Given the description of an element on the screen output the (x, y) to click on. 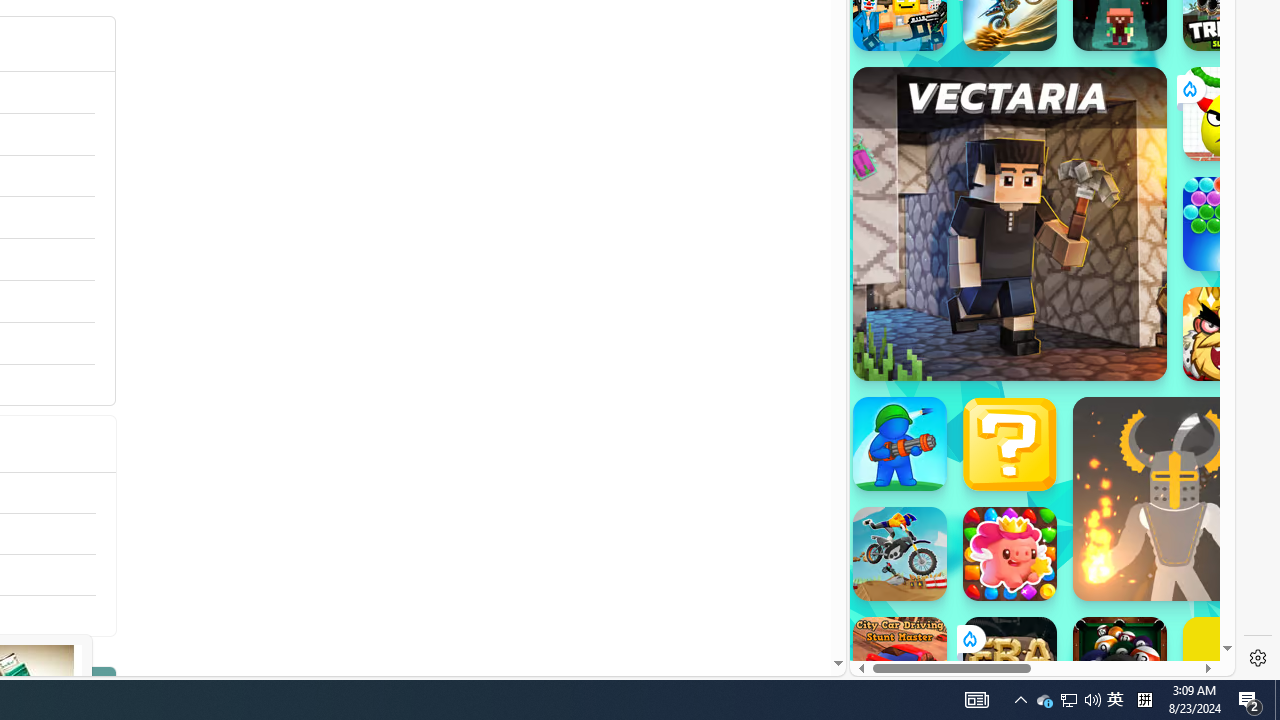
Match Arena (1009, 553)
Hills of Steel Hills of Steel poki.com (943, 245)
Combat Reloaded (1090, 290)
